Given the description of an element on the screen output the (x, y) to click on. 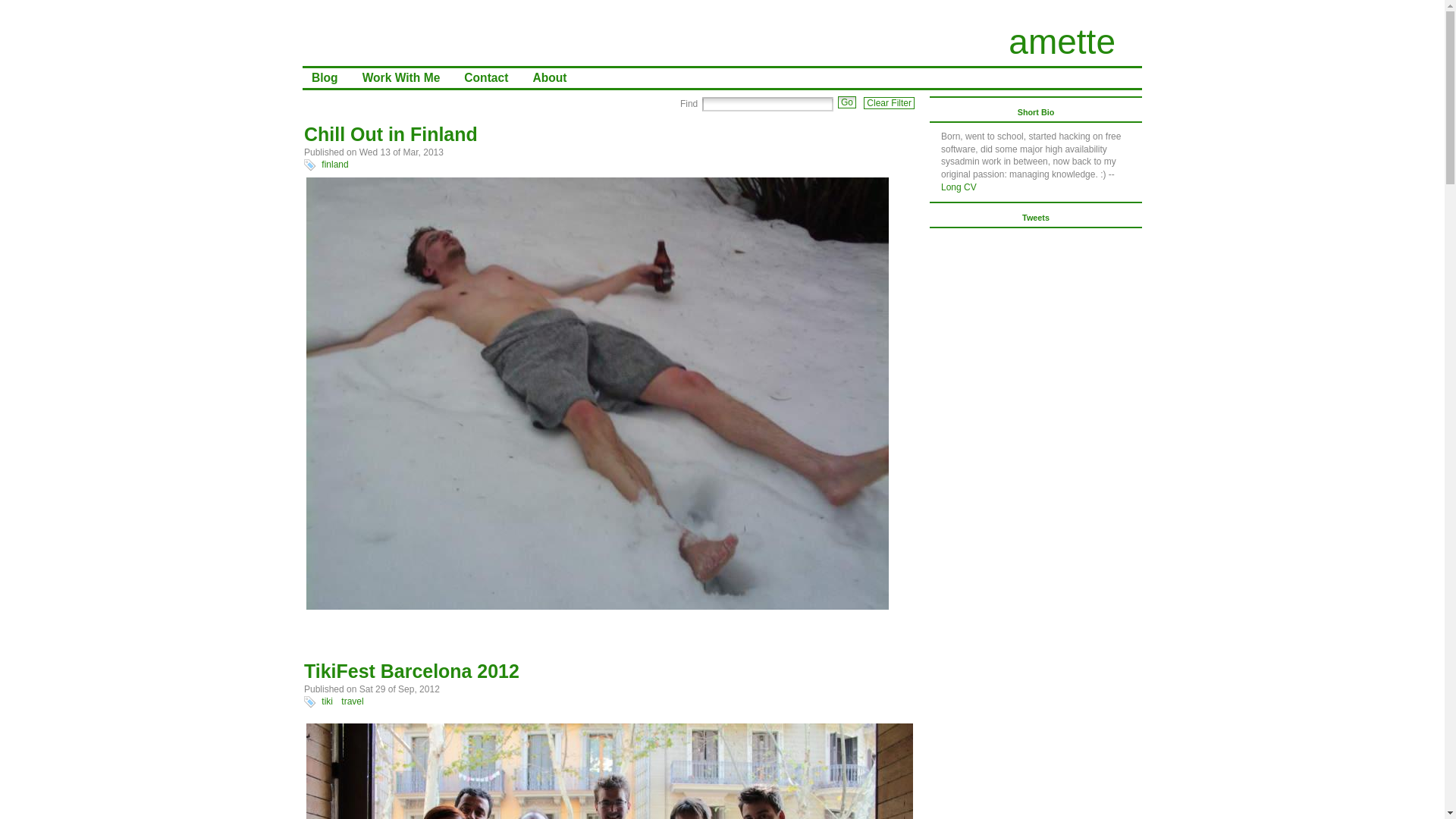
Go (847, 102)
travel (351, 701)
Go (847, 102)
About (551, 77)
TikiFest Barcelona 2012 (411, 670)
amette (1062, 41)
Chill Out in Finland (390, 133)
finland (334, 163)
Tags (309, 164)
Contact (488, 77)
Clear Filter (888, 102)
tiki (327, 701)
Work With Me (404, 77)
Clear Filter (888, 102)
Tags (309, 702)
